Given the description of an element on the screen output the (x, y) to click on. 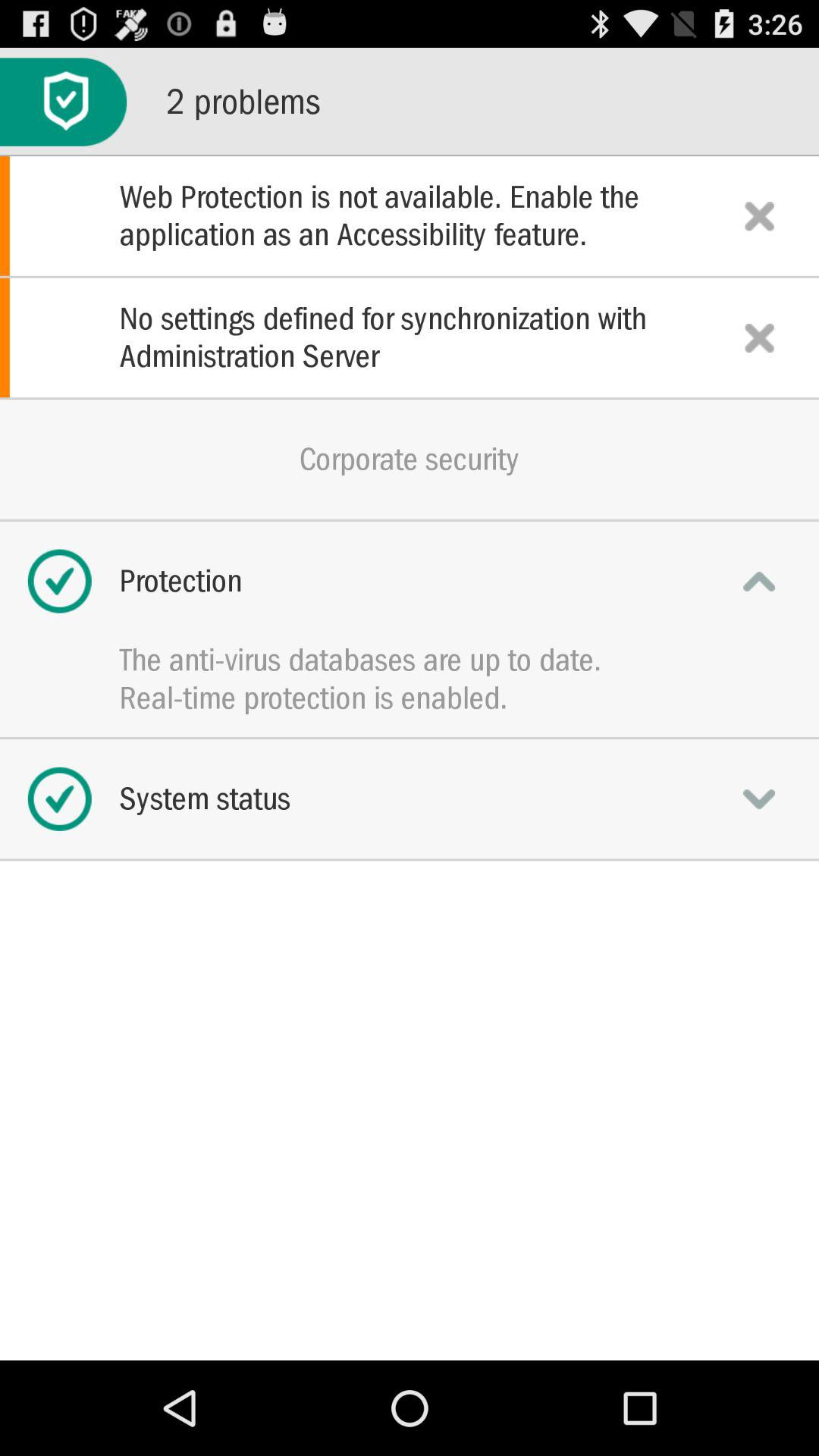
close notification (759, 215)
